Given the description of an element on the screen output the (x, y) to click on. 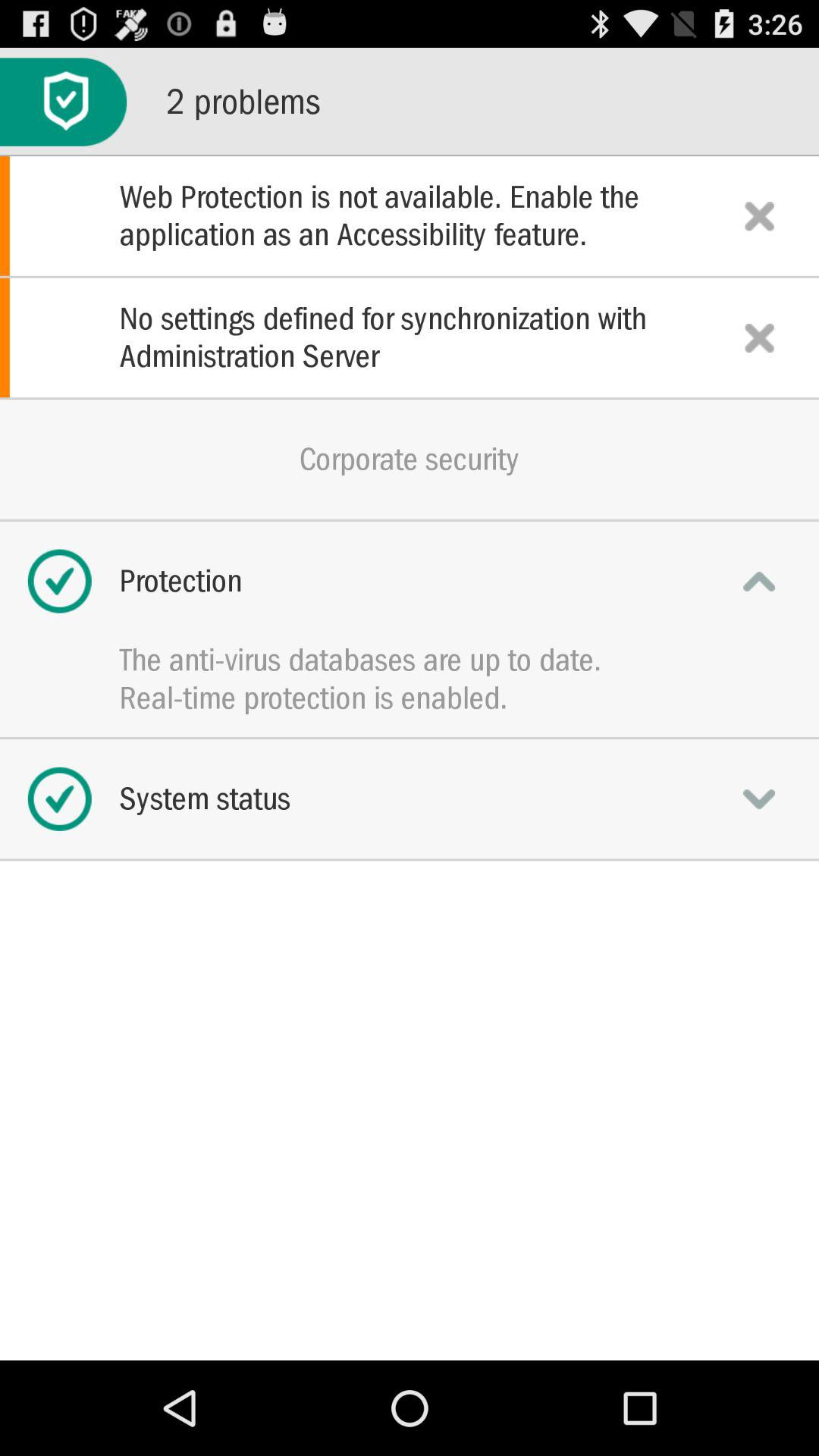
close notification (759, 215)
